Given the description of an element on the screen output the (x, y) to click on. 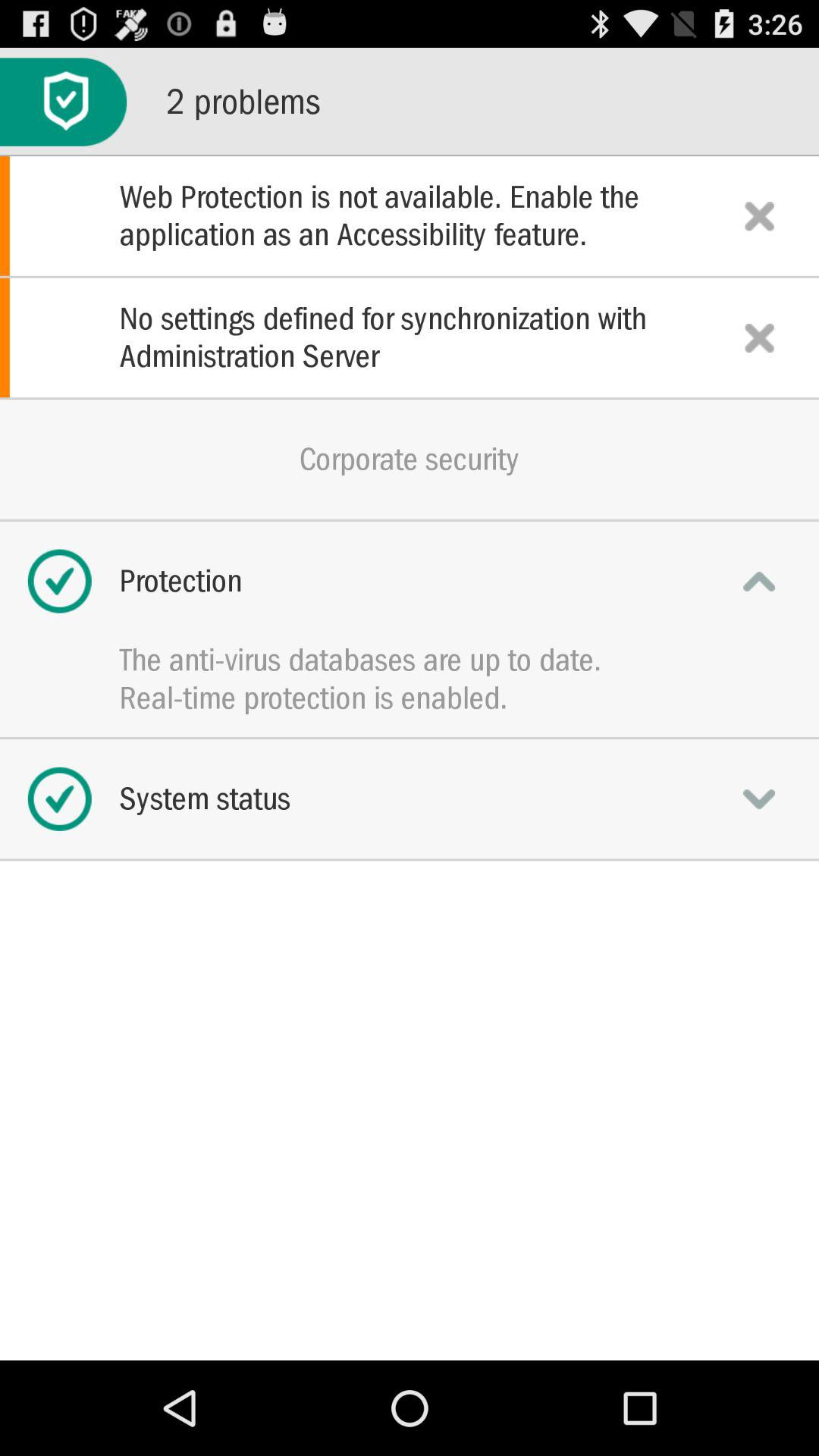
close notification (759, 215)
